Given the description of an element on the screen output the (x, y) to click on. 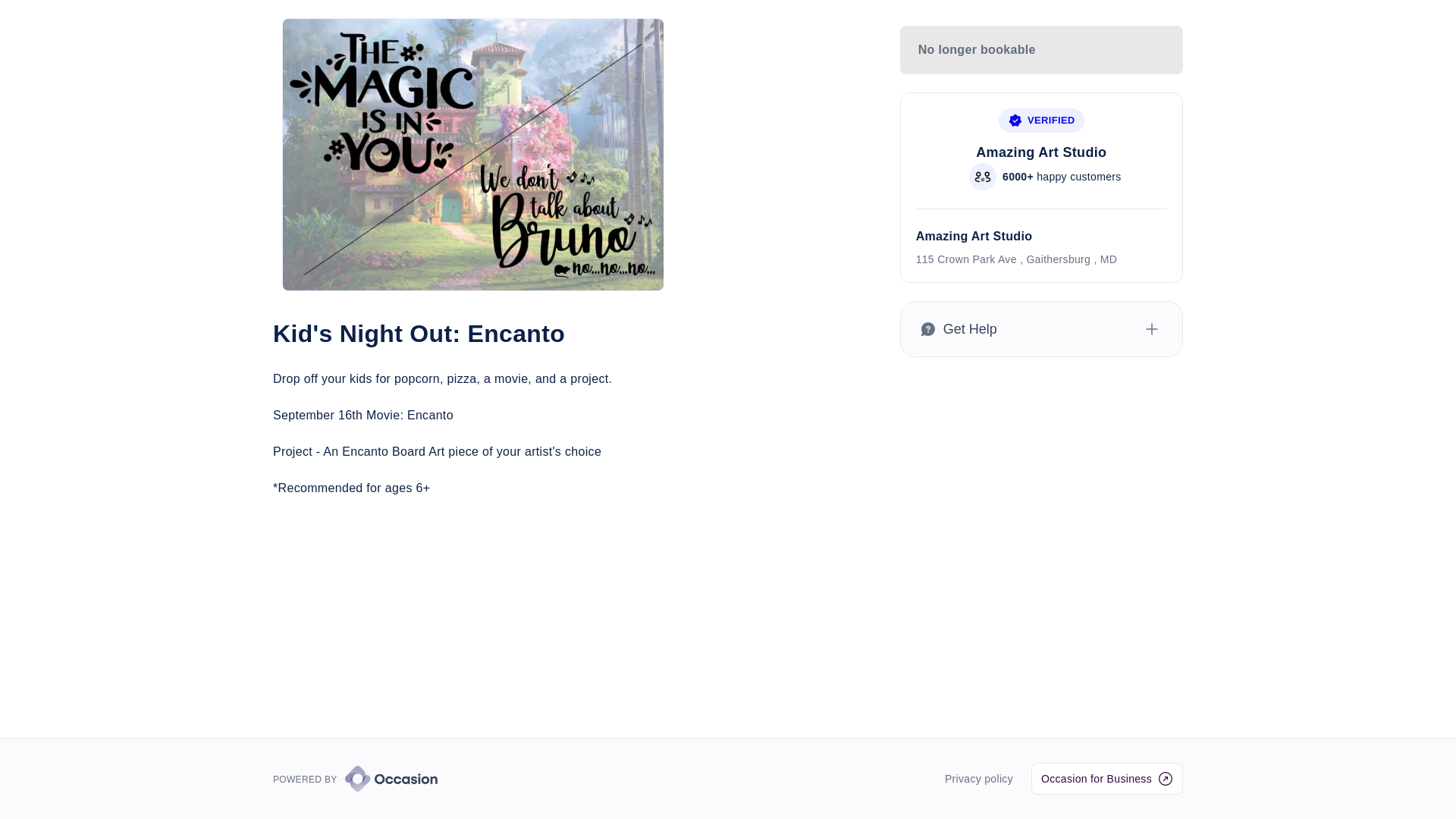
Occasion for Business (1106, 778)
Get Help (1041, 329)
Privacy policy (978, 778)
